Given the description of an element on the screen output the (x, y) to click on. 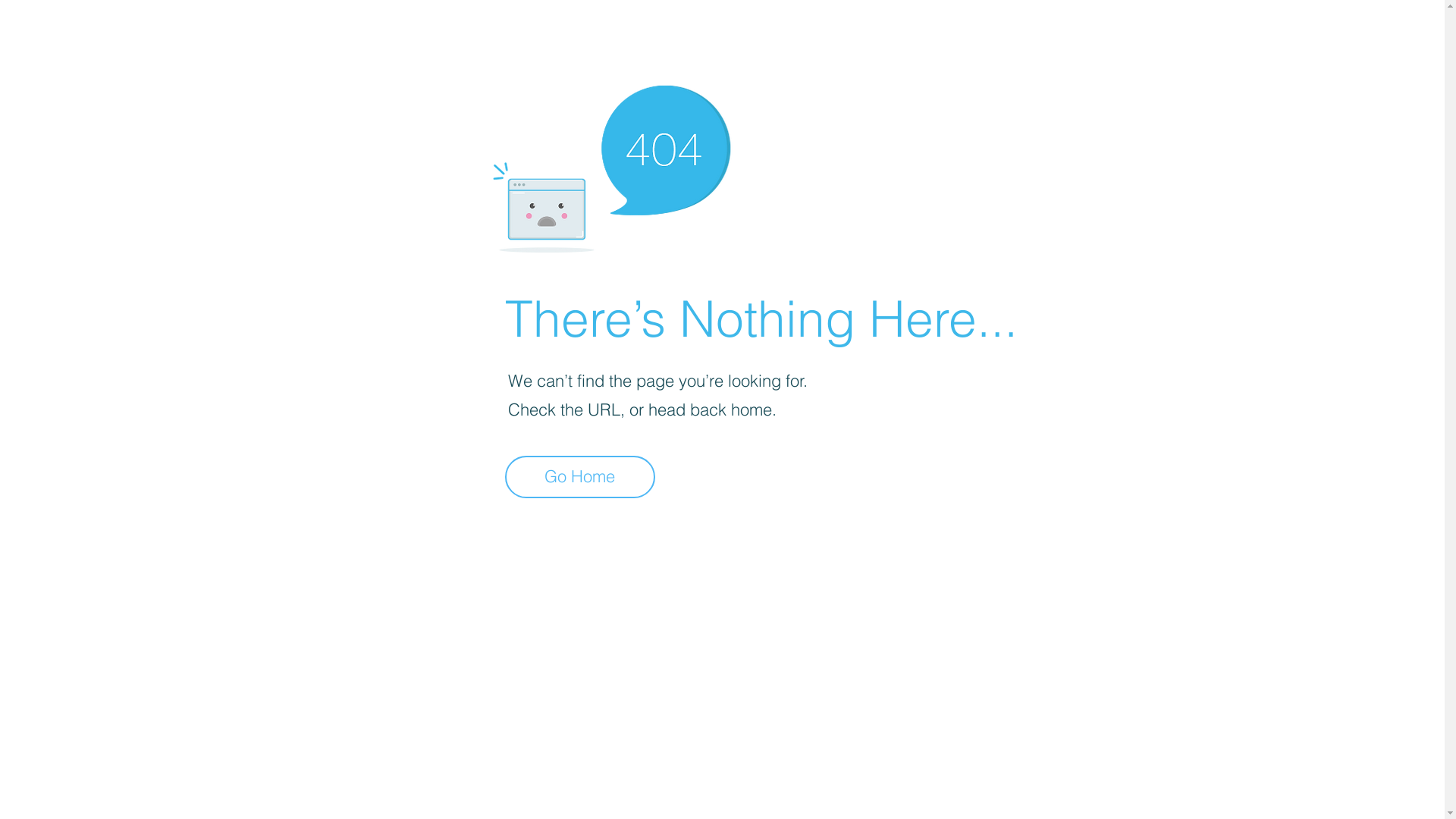
404-icon_2.png Element type: hover (610, 164)
Go Home Element type: text (580, 476)
